Given the description of an element on the screen output the (x, y) to click on. 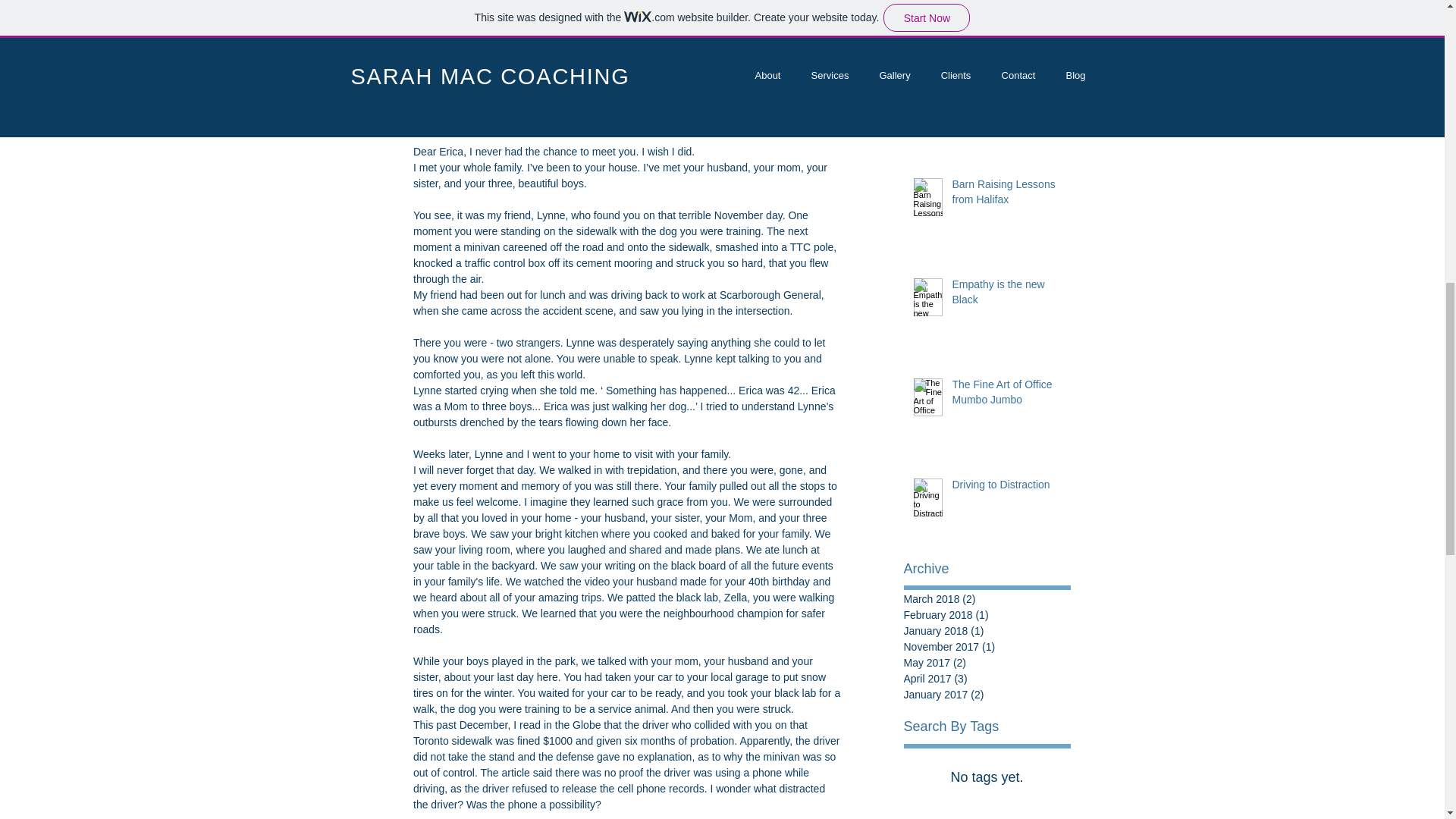
My Grandfather's Morning Routine (1006, 38)
The Fine Art of Office Mumbo Jumbo (1006, 395)
Driving to Distraction (1006, 487)
Empathy is the new Black (1006, 294)
Barn Raising Lessons from Halifax (1006, 194)
Office Hacks for Everyday (1006, 117)
